Given the description of an element on the screen output the (x, y) to click on. 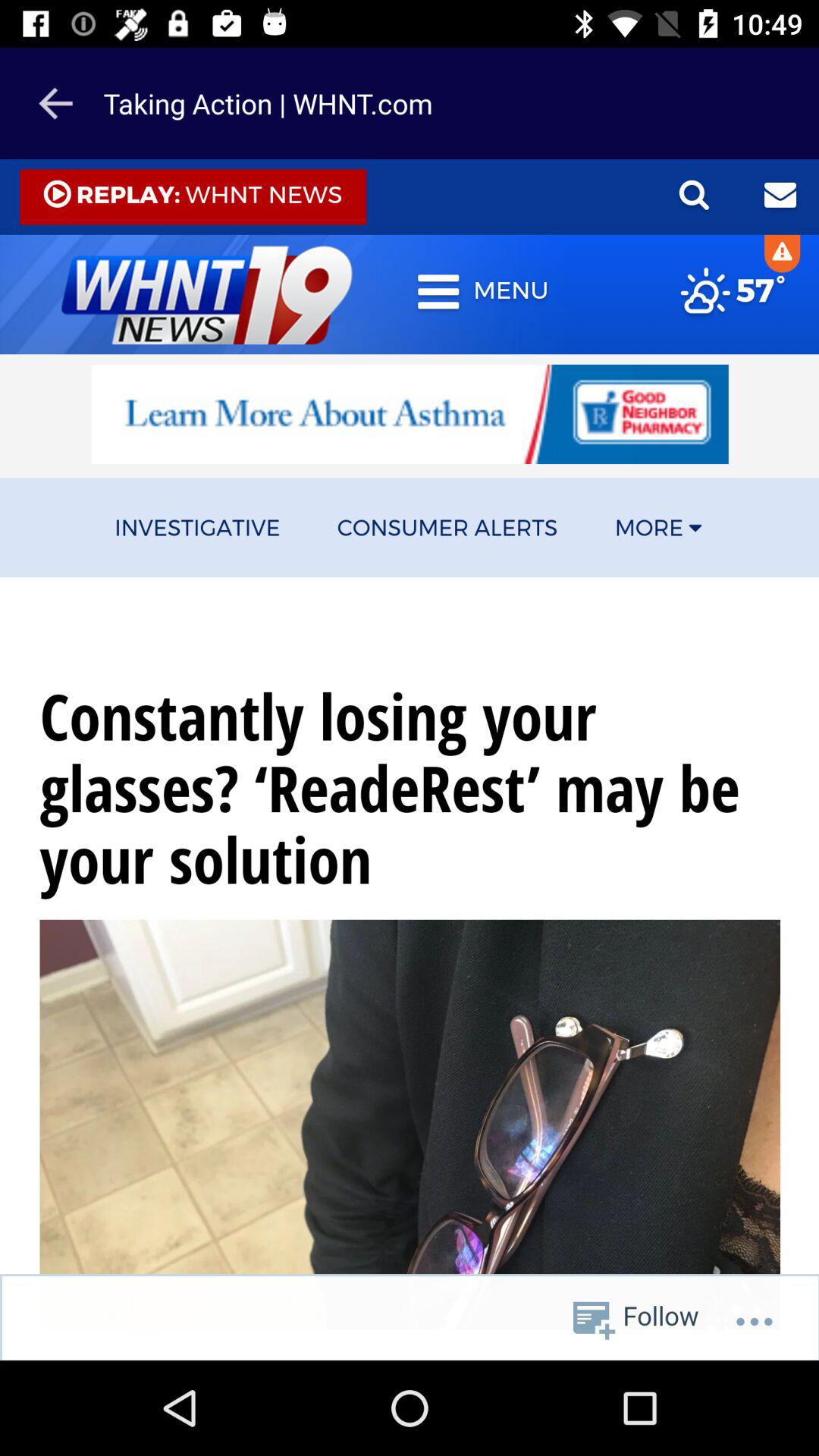
go back (55, 103)
